Given the description of an element on the screen output the (x, y) to click on. 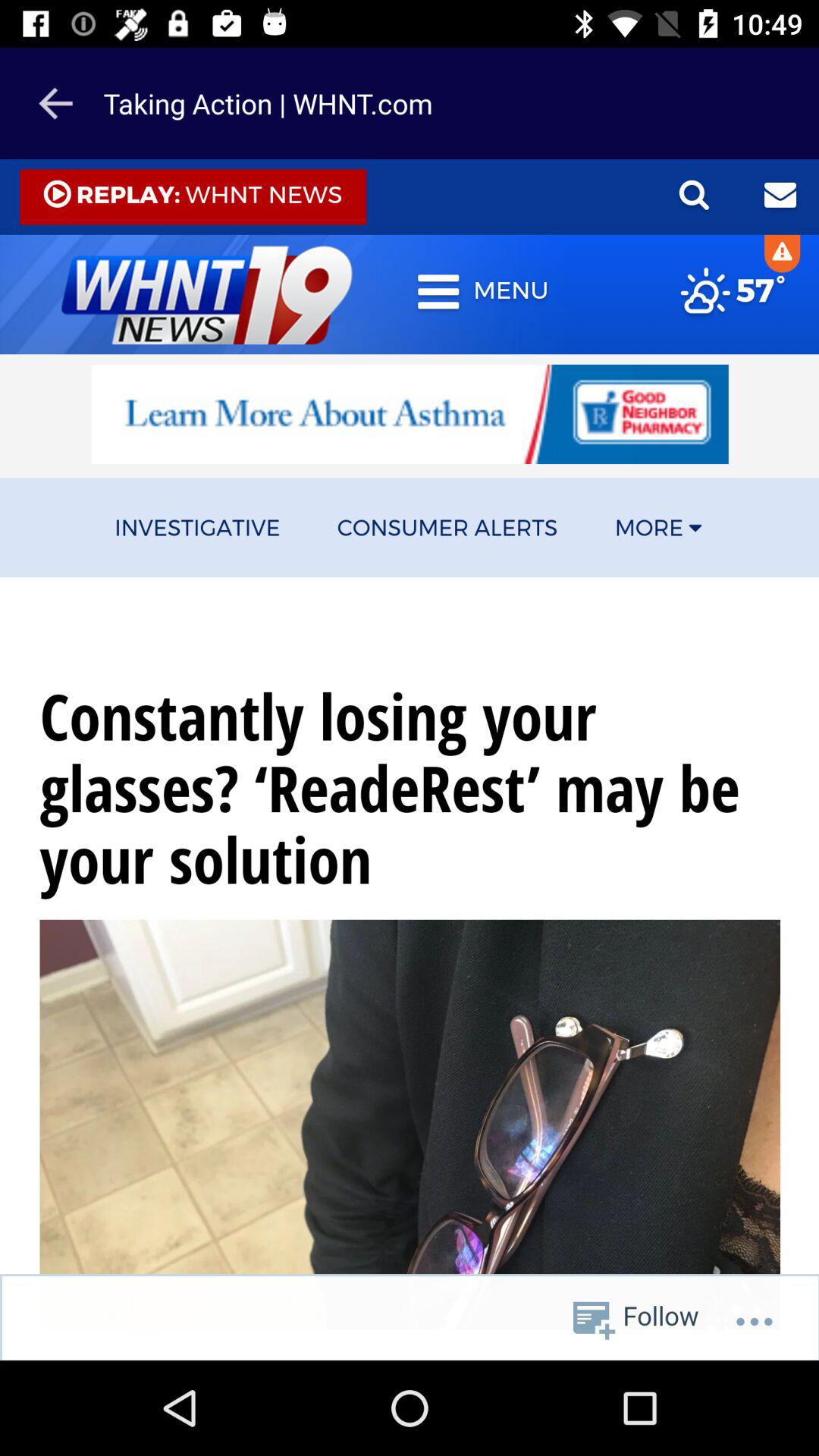
go back (55, 103)
